Given the description of an element on the screen output the (x, y) to click on. 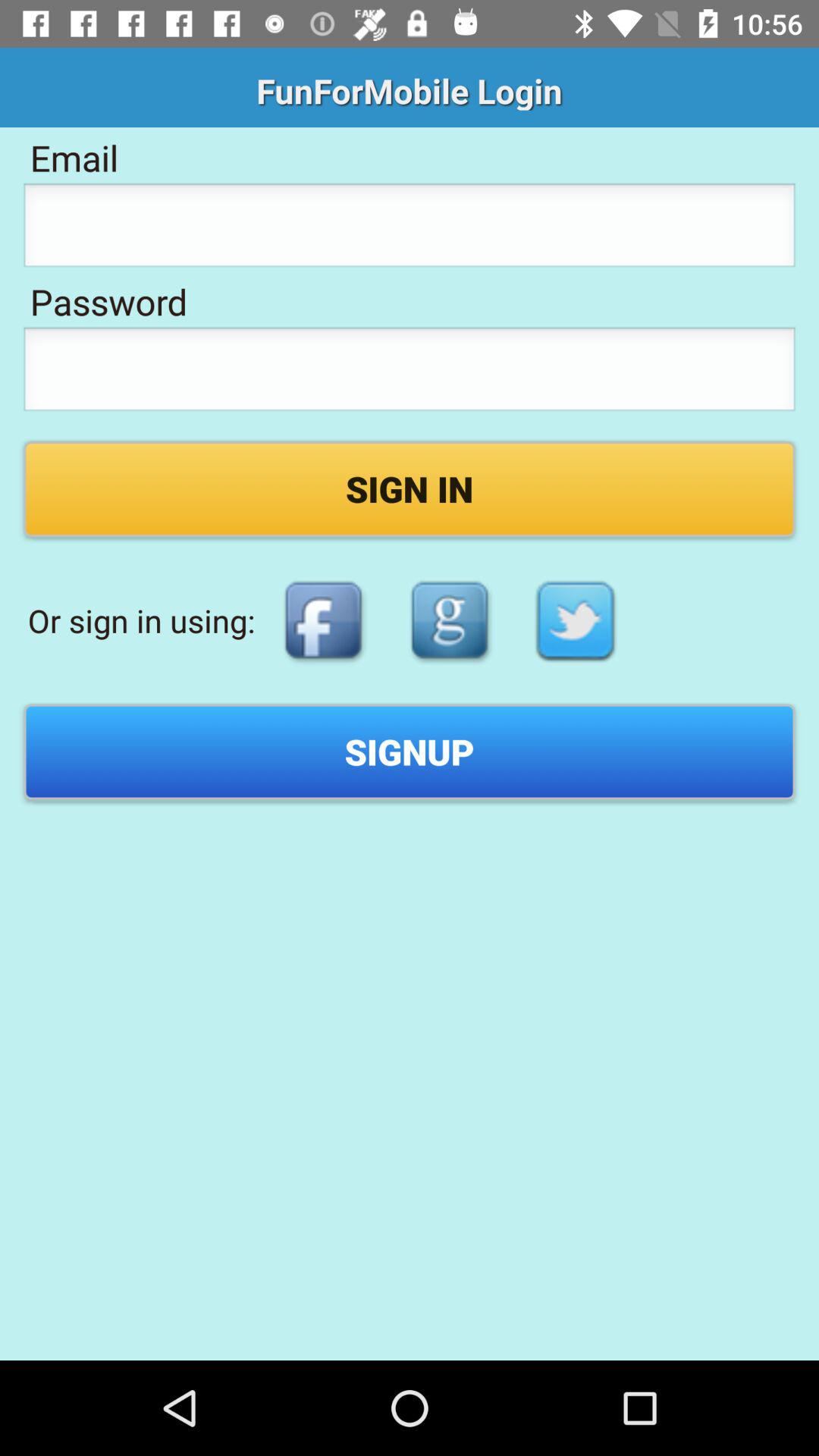
flip until the signup item (409, 751)
